Given the description of an element on the screen output the (x, y) to click on. 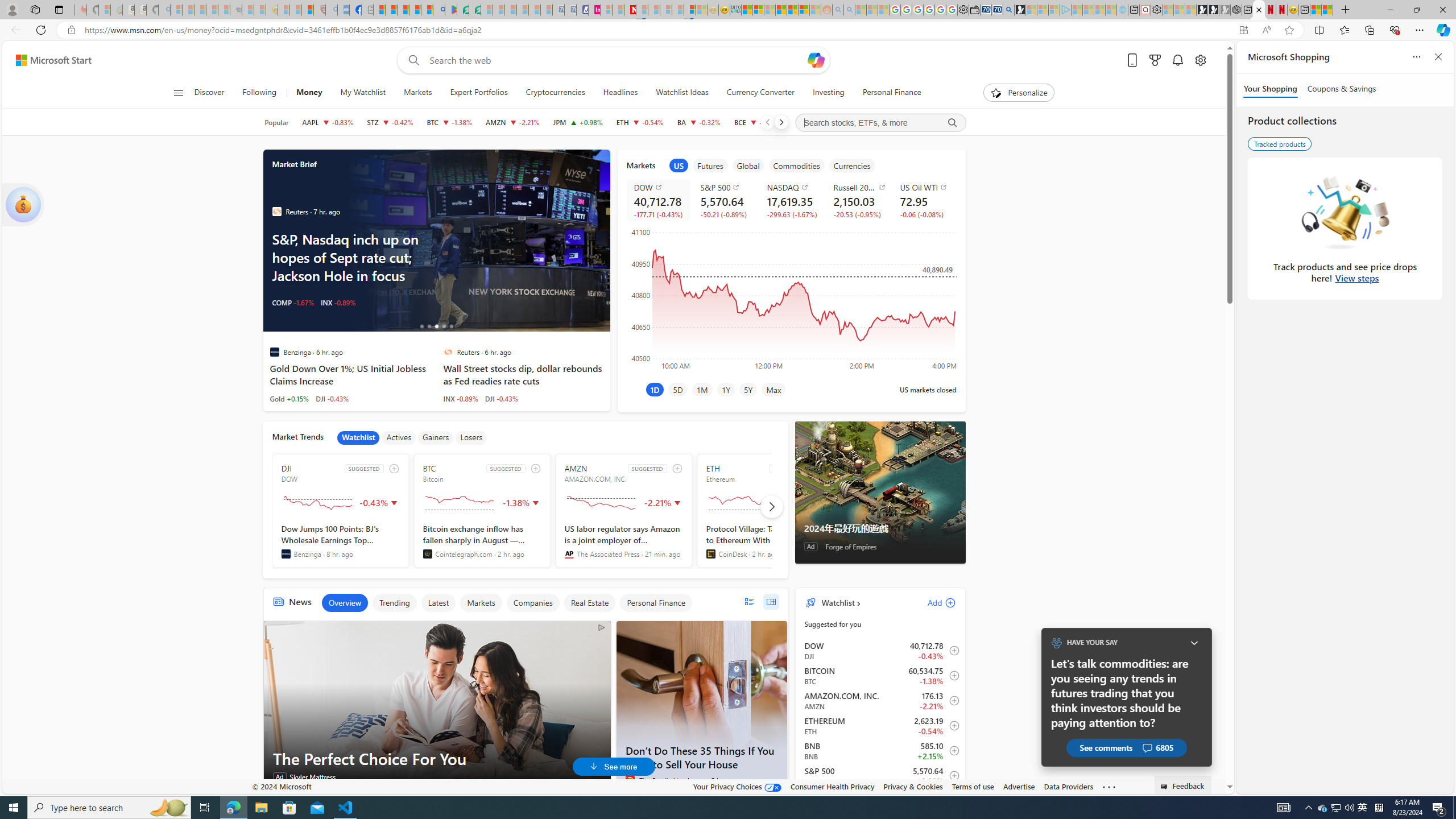
Gainers (435, 437)
INX -0.89% (460, 397)
Kinda Frugal - MSN (792, 9)
Dow Jumps 100 Points; BJ's Wholesale Earnings Top Estimates (340, 540)
1M (701, 389)
Privacy & Cookies (913, 786)
Next (780, 122)
Data Providers (1068, 786)
